Given the description of an element on the screen output the (x, y) to click on. 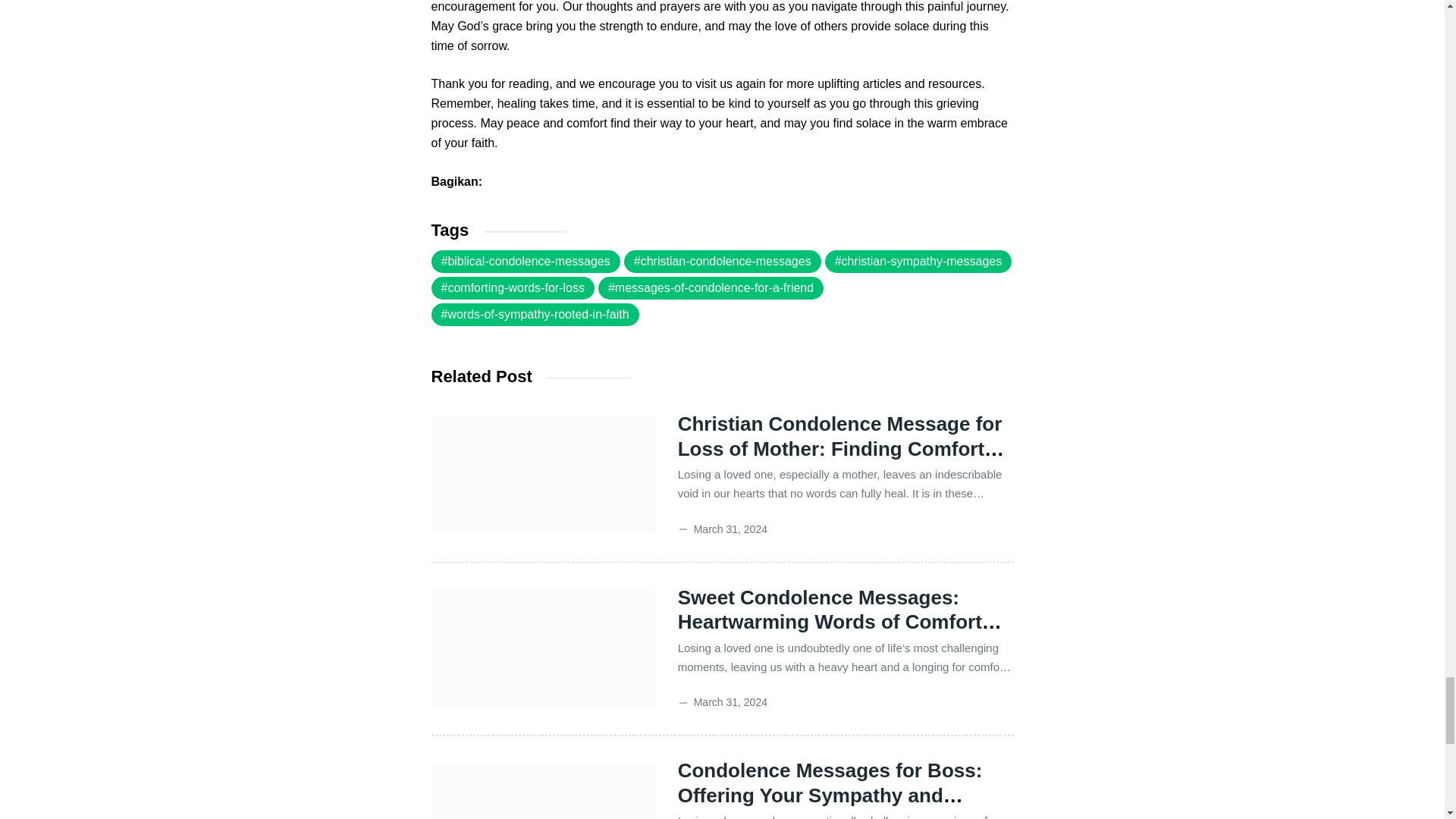
christian-condolence-messages (722, 261)
christian-sympathy-messages (918, 261)
messages-of-condolence-for-a-friend (711, 287)
words-of-sympathy-rooted-in-faith (534, 314)
comforting-words-for-loss (512, 287)
biblical-condolence-messages (525, 261)
